Given the description of an element on the screen output the (x, y) to click on. 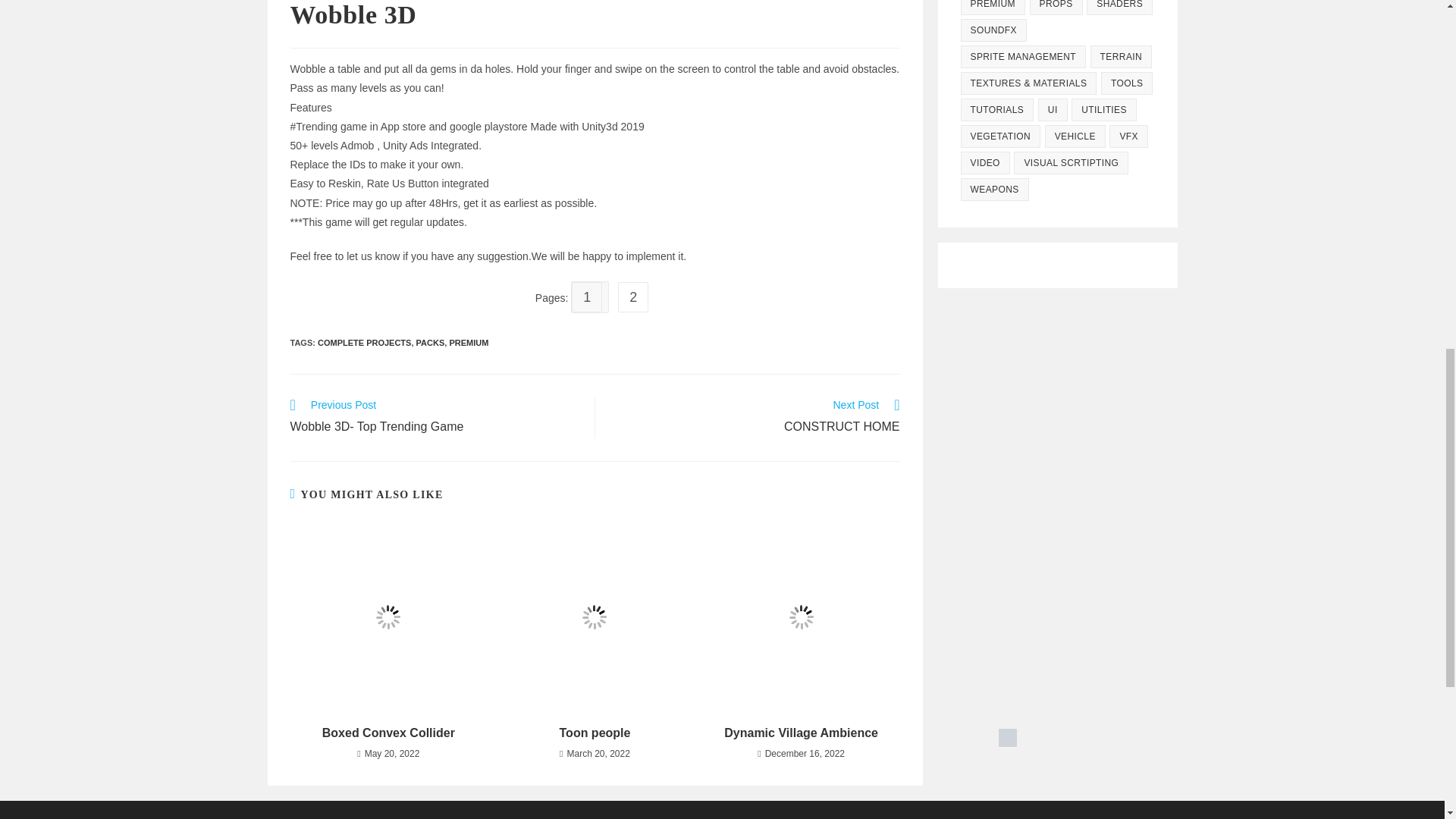
Toon people (594, 733)
PREMIUM (467, 342)
PACKS (754, 417)
Dynamic Village Ambience (430, 342)
2 (801, 733)
COMPLETE PROJECTS (433, 417)
Boxed Convex Collider (635, 297)
